Given the description of an element on the screen output the (x, y) to click on. 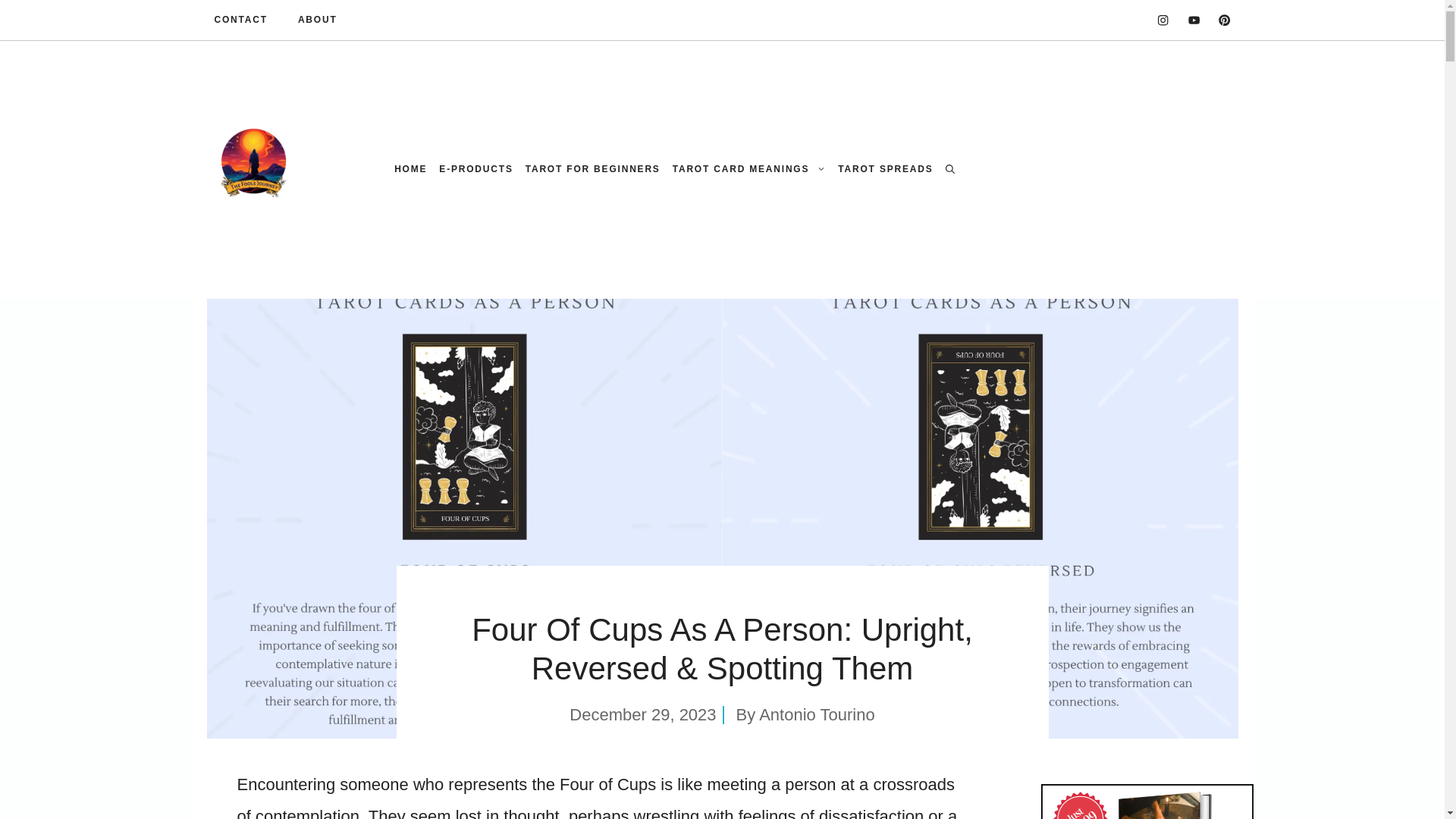
TAROT SPREADS (885, 169)
TAROT FOR BEGINNERS (592, 169)
Antonio Tourino (816, 714)
E-PRODUCTS (475, 169)
CONTACT (240, 19)
HOME (410, 169)
TAROT CARD MEANINGS (749, 169)
ABOUT (317, 19)
